Given the description of an element on the screen output the (x, y) to click on. 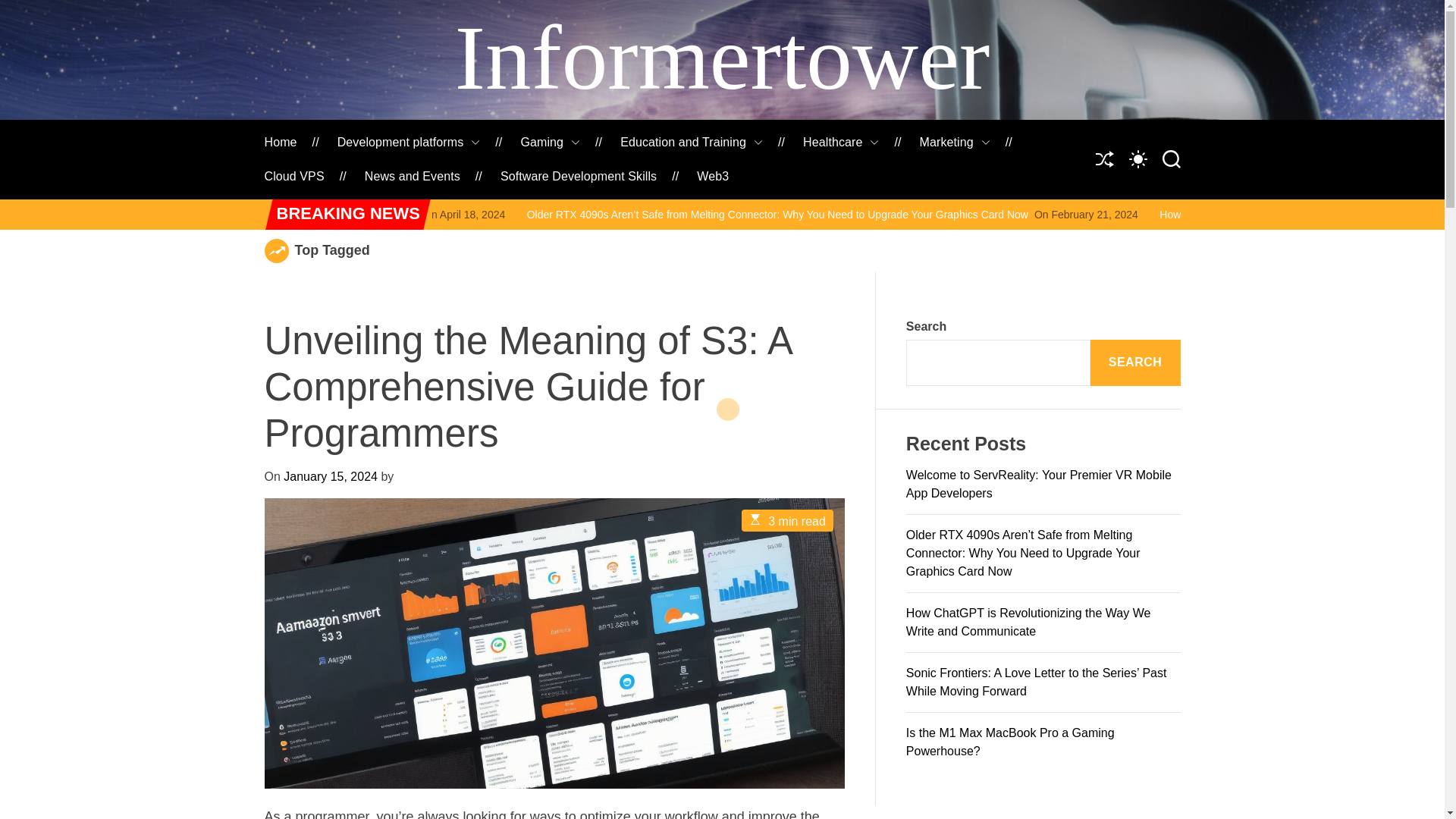
Healthcare (841, 142)
Home (280, 142)
Development platforms (408, 142)
Gaming (549, 142)
Informertower (722, 58)
Education and Training (691, 142)
